Given the description of an element on the screen output the (x, y) to click on. 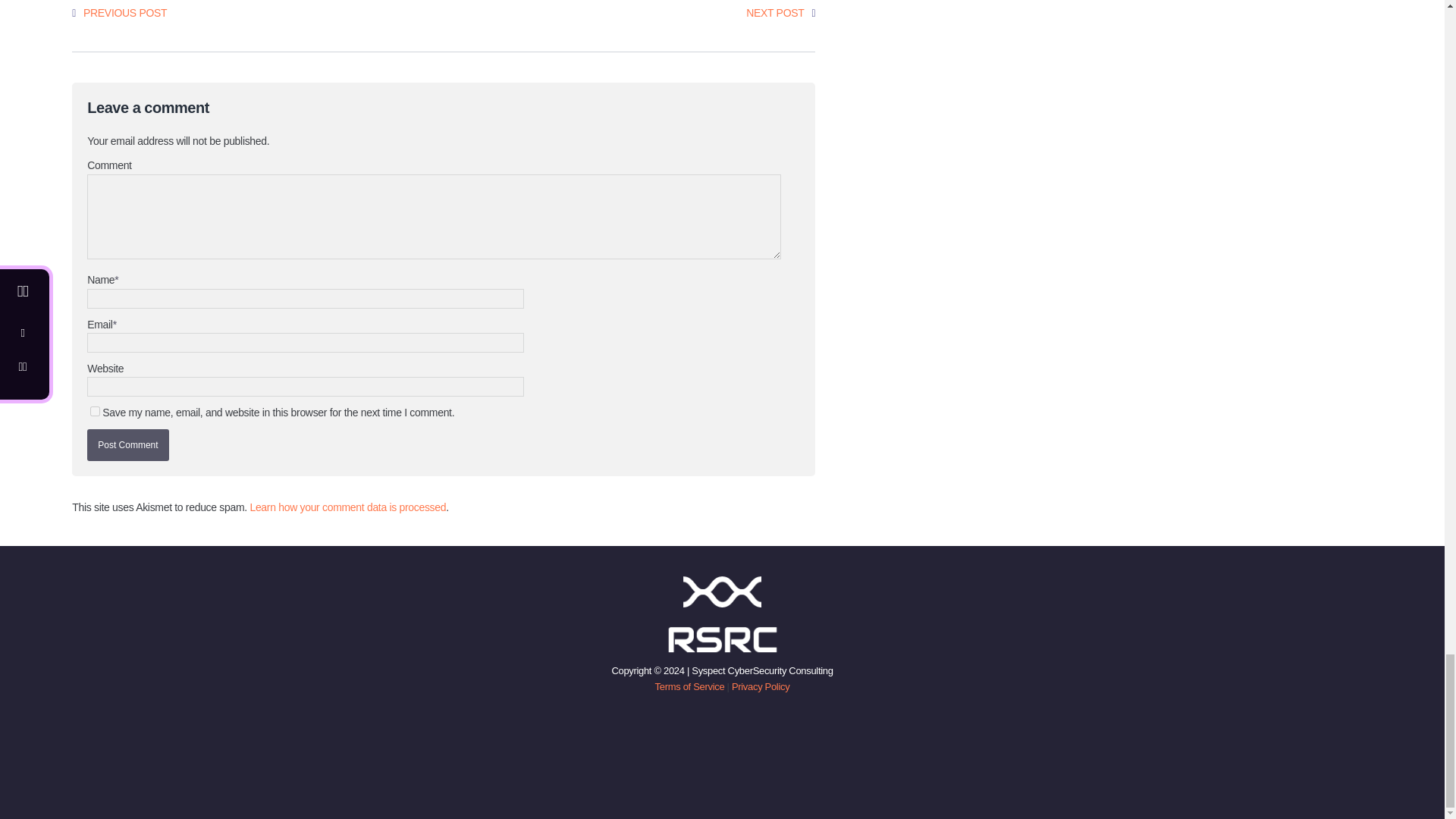
yes (95, 411)
Post Comment (127, 445)
